Given the description of an element on the screen output the (x, y) to click on. 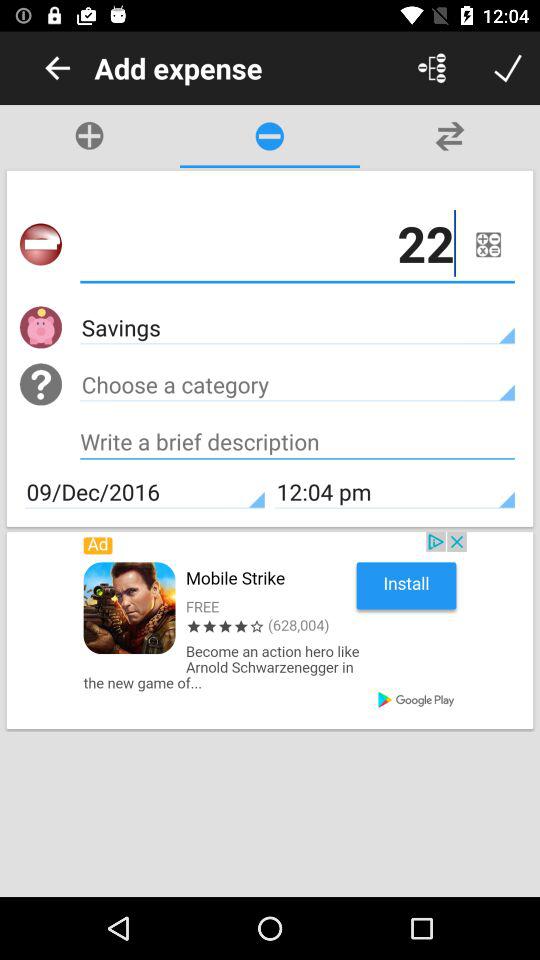
select gaming advertisement (269, 630)
